Given the description of an element on the screen output the (x, y) to click on. 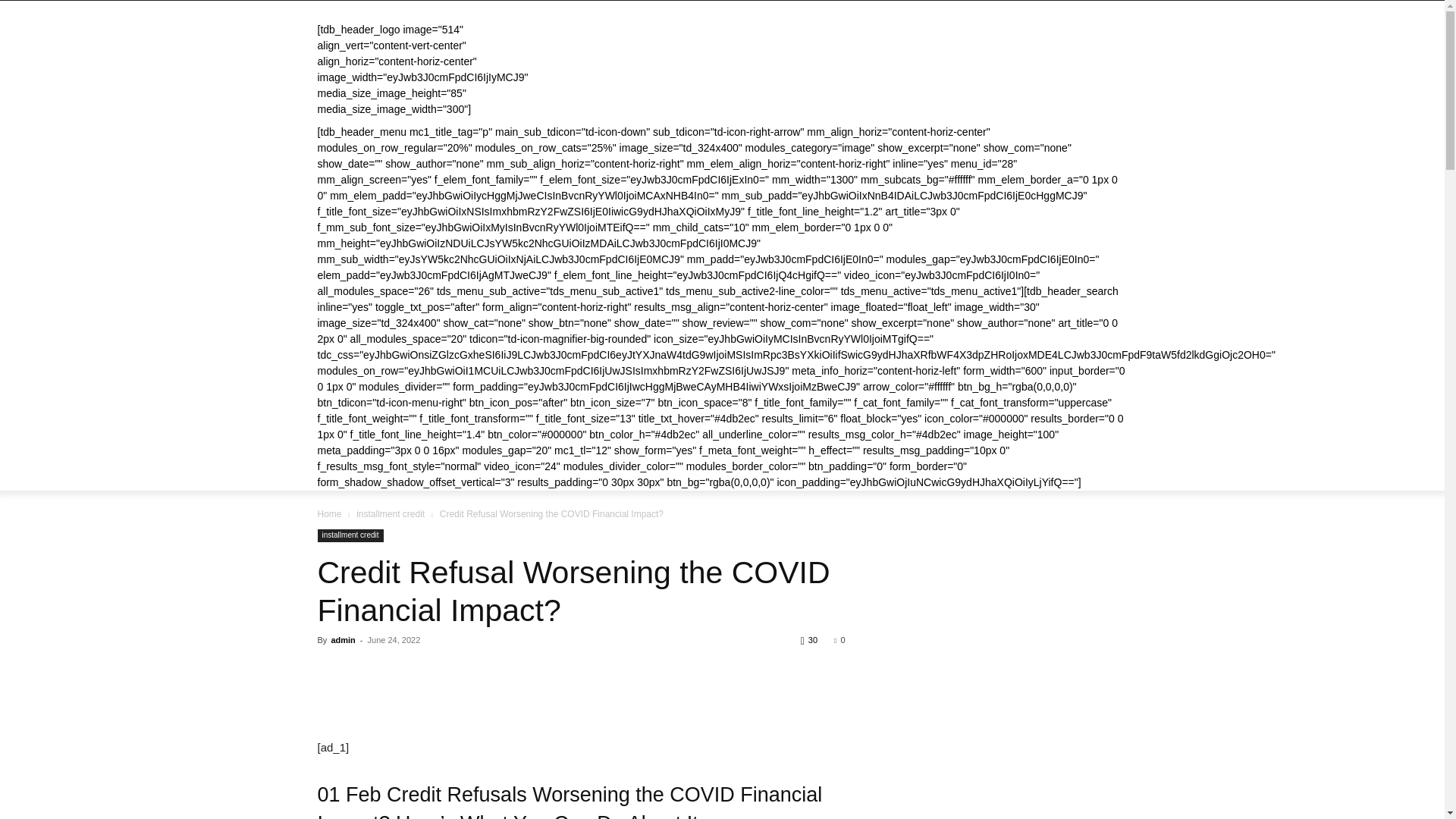
View all posts in installment credit (390, 513)
installment credit (349, 535)
installment credit (390, 513)
0 (839, 639)
admin (342, 639)
Home (328, 513)
